Given the description of an element on the screen output the (x, y) to click on. 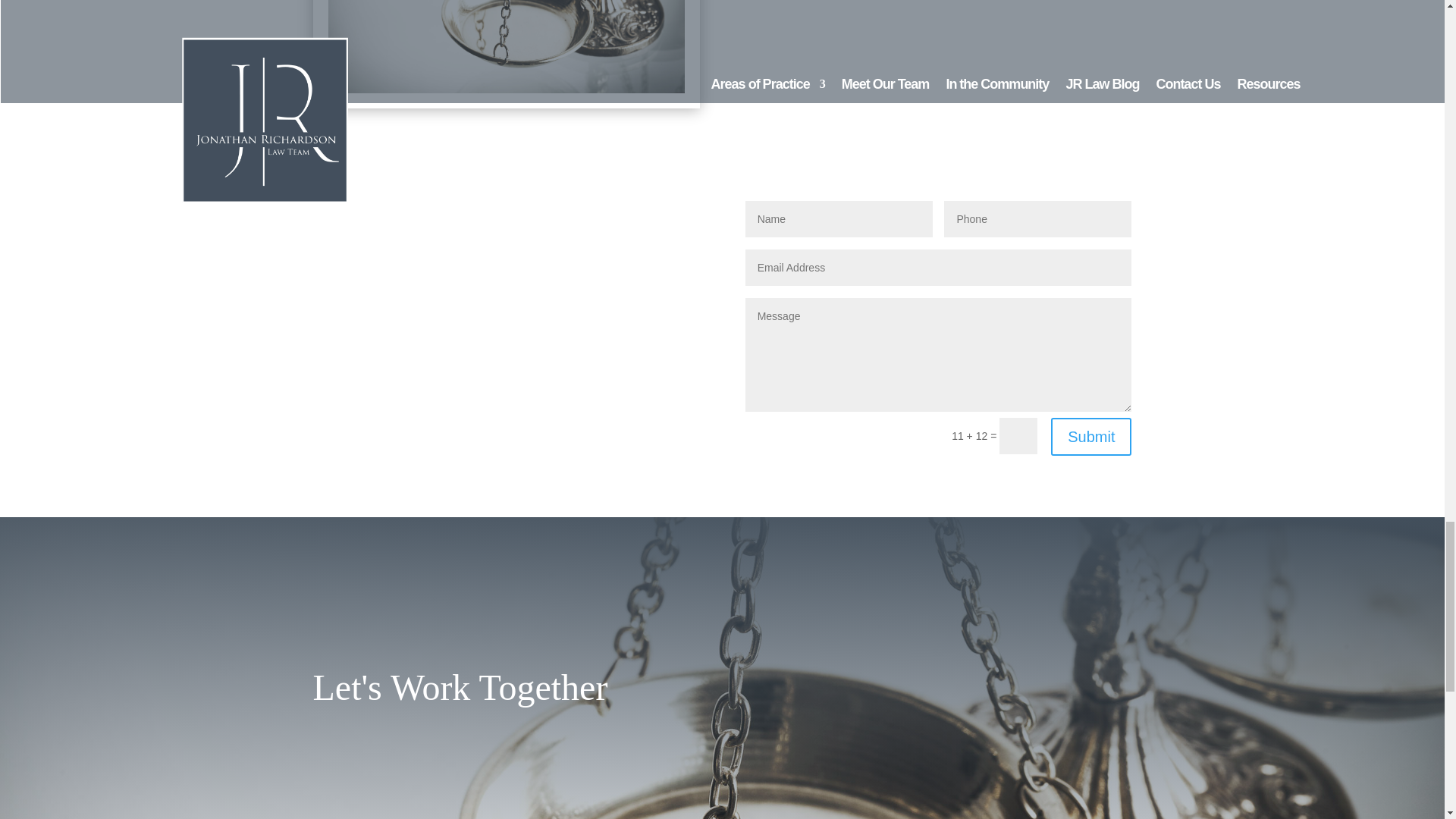
Submit (1091, 436)
